Given the description of an element on the screen output the (x, y) to click on. 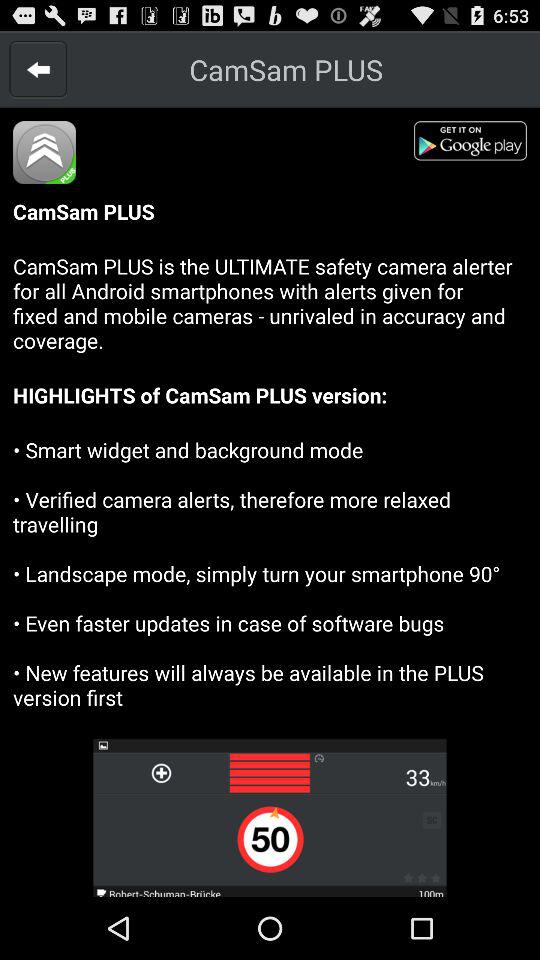
download on google play (477, 144)
